Given the description of an element on the screen output the (x, y) to click on. 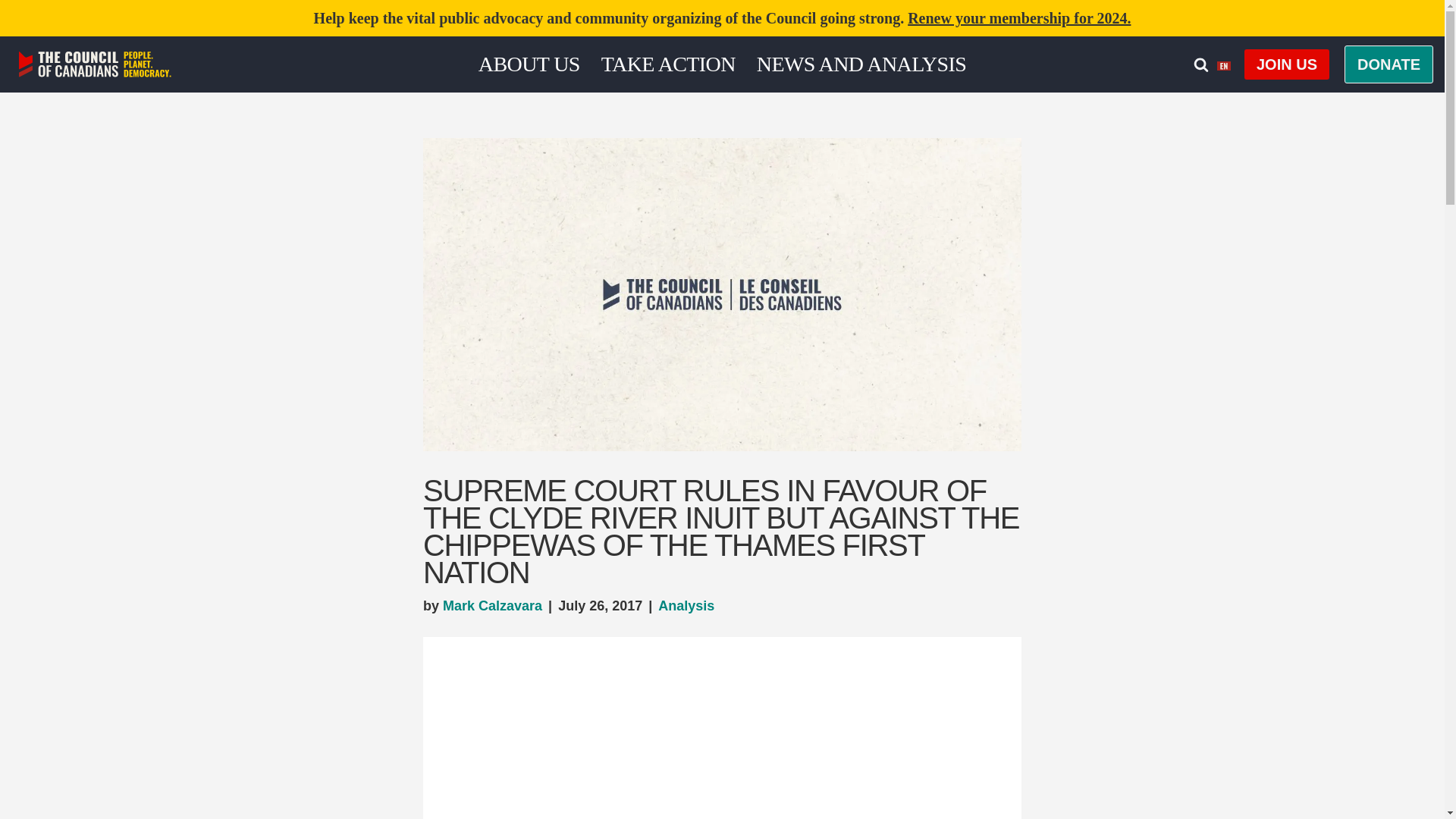
Renew your membership for 2024. (1019, 17)
Mark Calzavara (491, 605)
ABOUT US (529, 63)
Analysis (686, 605)
Skip to content (11, 31)
TAKE ACTION (668, 63)
Posts by Mark Calzavara (491, 605)
JOIN US (1286, 64)
DONATE (1387, 64)
NEWS AND ANALYSIS (861, 63)
